Given the description of an element on the screen output the (x, y) to click on. 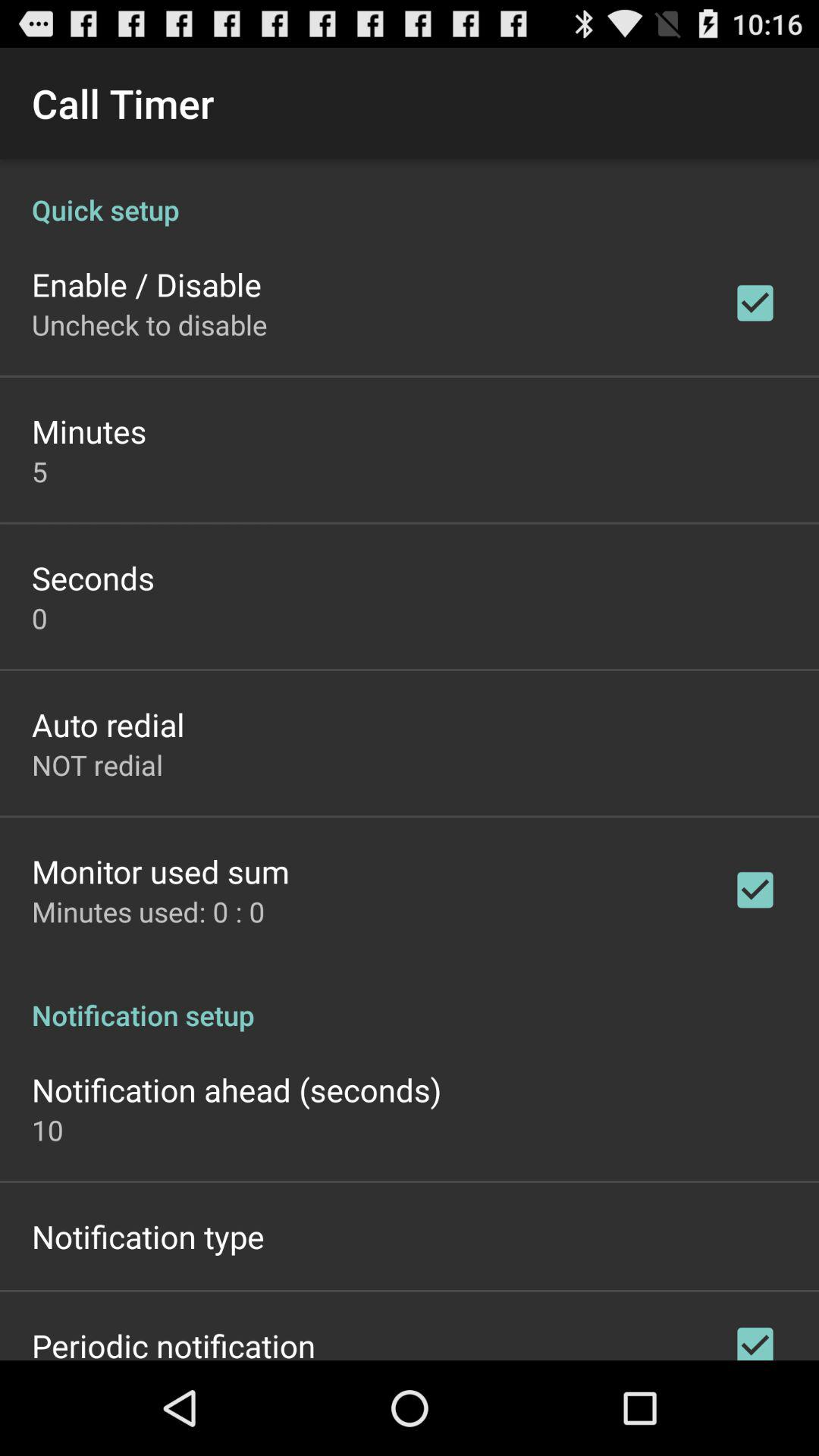
swipe to the notification setup icon (409, 998)
